Given the description of an element on the screen output the (x, y) to click on. 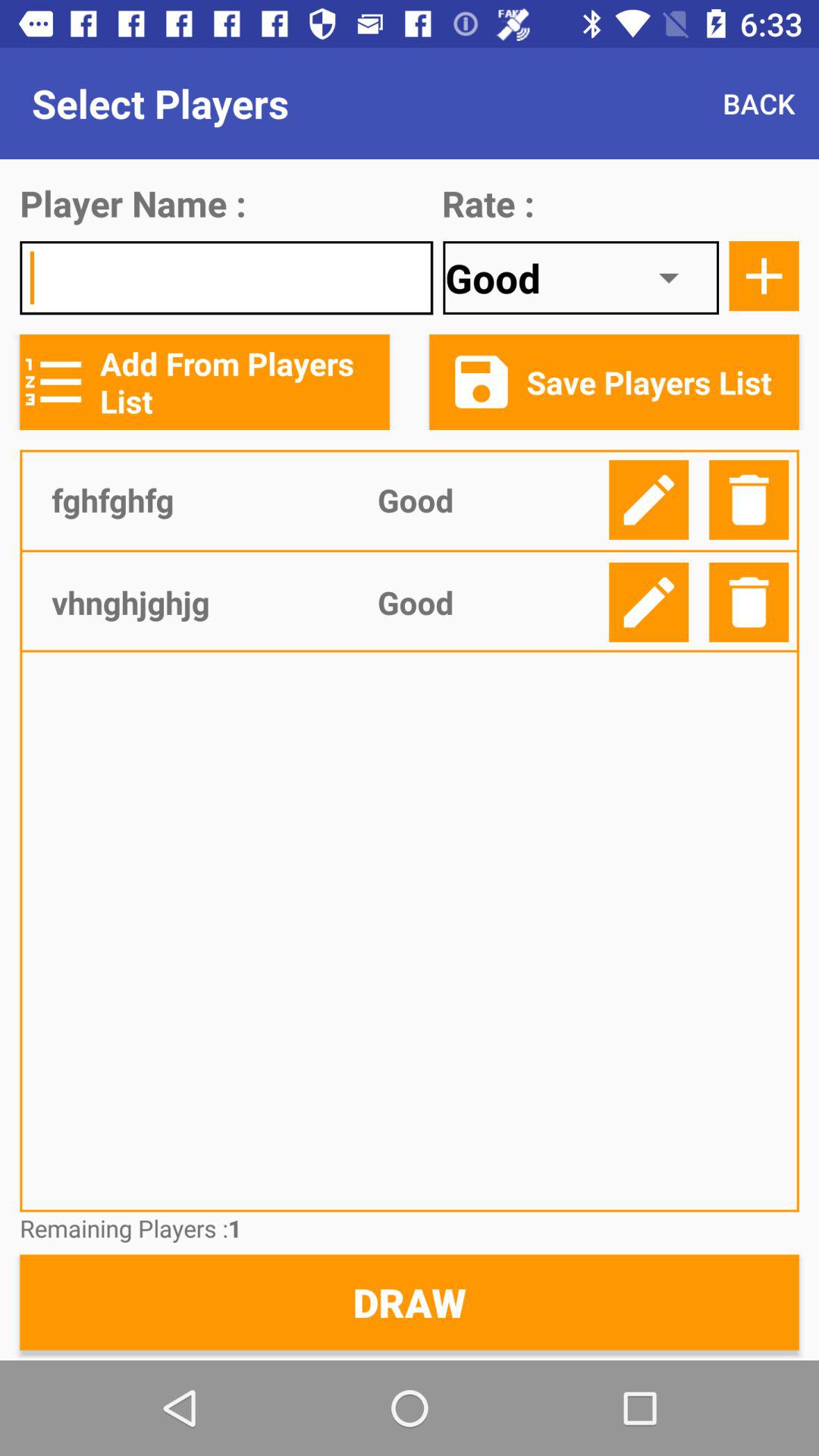
shows the playeername option (225, 277)
